Given the description of an element on the screen output the (x, y) to click on. 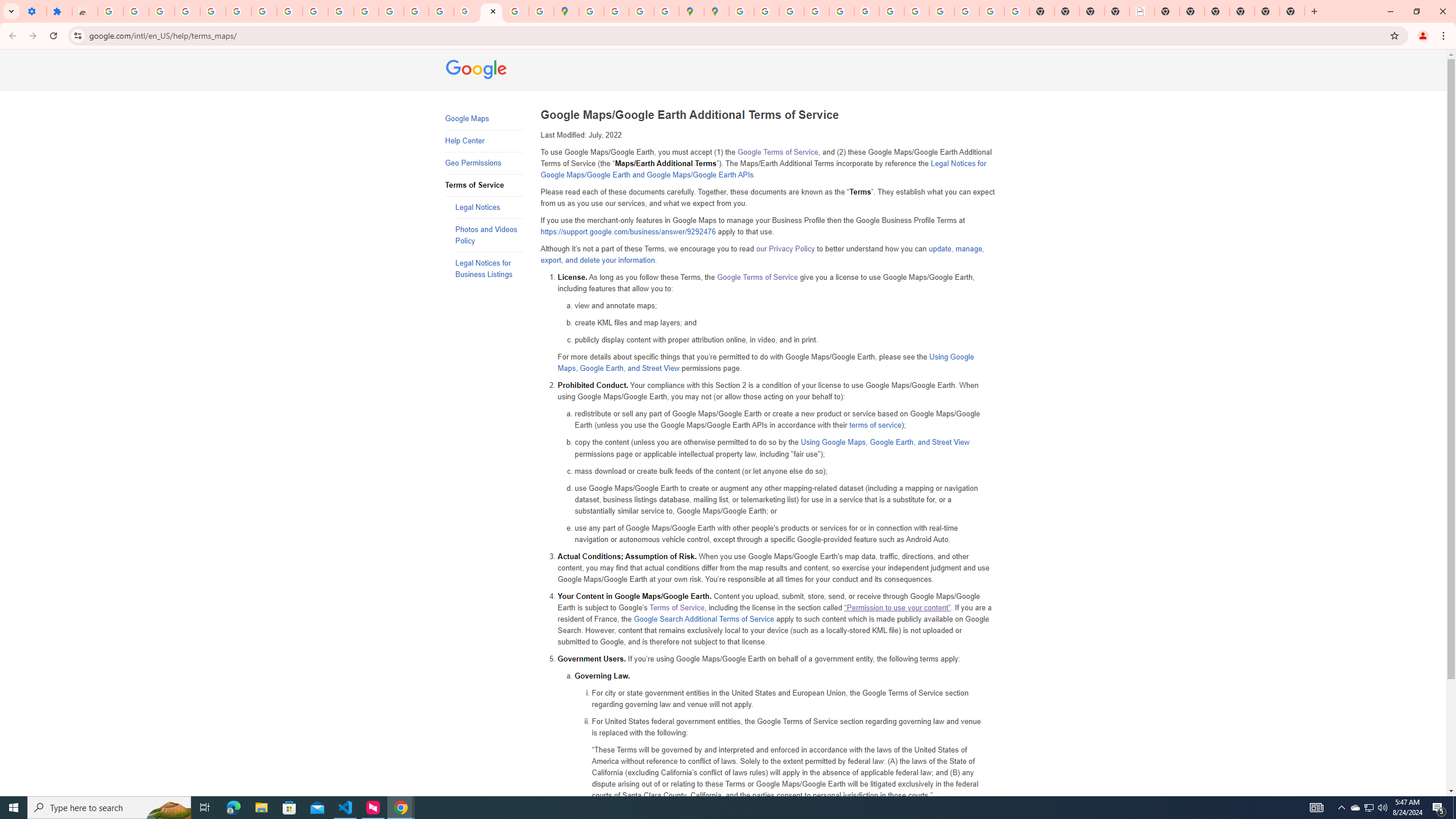
Privacy Help Center - Policies Help (816, 11)
update, manage, export, and delete your information (762, 254)
Learn how to find your photos - Google Photos Help (186, 11)
Photos and Videos Policy (489, 235)
Reviews: Helix Fruit Jump Arcade Game (84, 11)
Google Terms of Service (756, 276)
Legal Notices (489, 207)
